Given the description of an element on the screen output the (x, y) to click on. 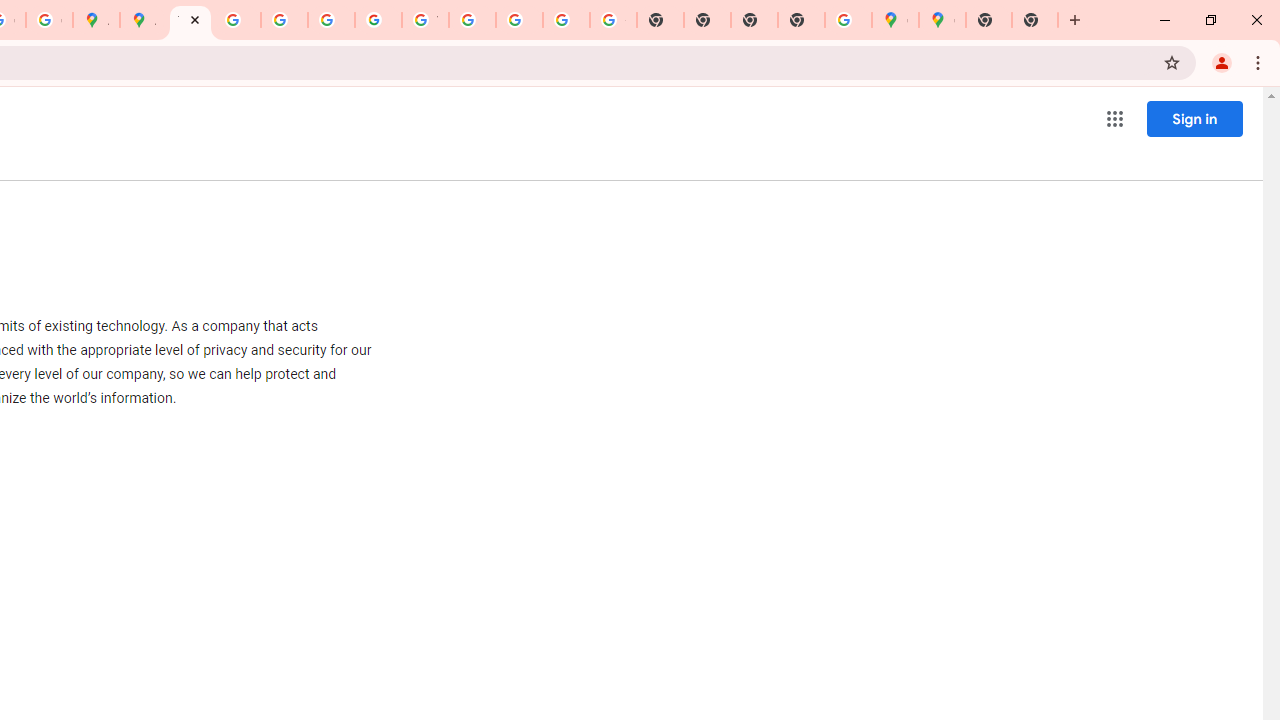
Privacy Help Center - Policies Help (237, 20)
Minimize (1165, 20)
New Tab (989, 20)
You (1221, 62)
Browse Chrome as a guest - Computer - Google Chrome Help (472, 20)
New Tab (1075, 20)
Bookmark this tab (1171, 62)
New Tab (1035, 20)
New Tab (801, 20)
Google Maps (895, 20)
